Given the description of an element on the screen output the (x, y) to click on. 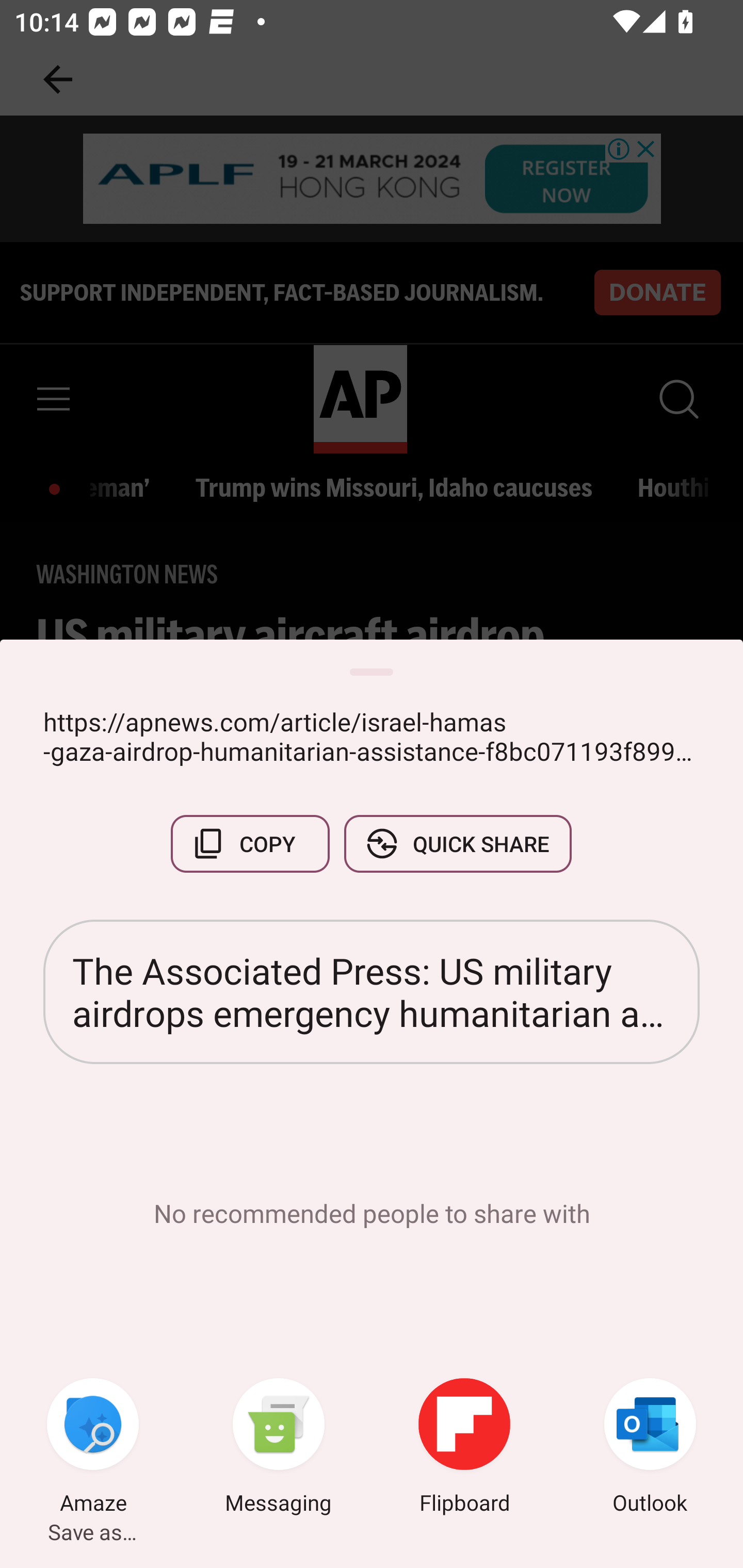
COPY (249, 844)
QUICK SHARE (457, 844)
Amaze Save as… (92, 1448)
Messaging (278, 1448)
Flipboard (464, 1448)
Outlook (650, 1448)
